Given the description of an element on the screen output the (x, y) to click on. 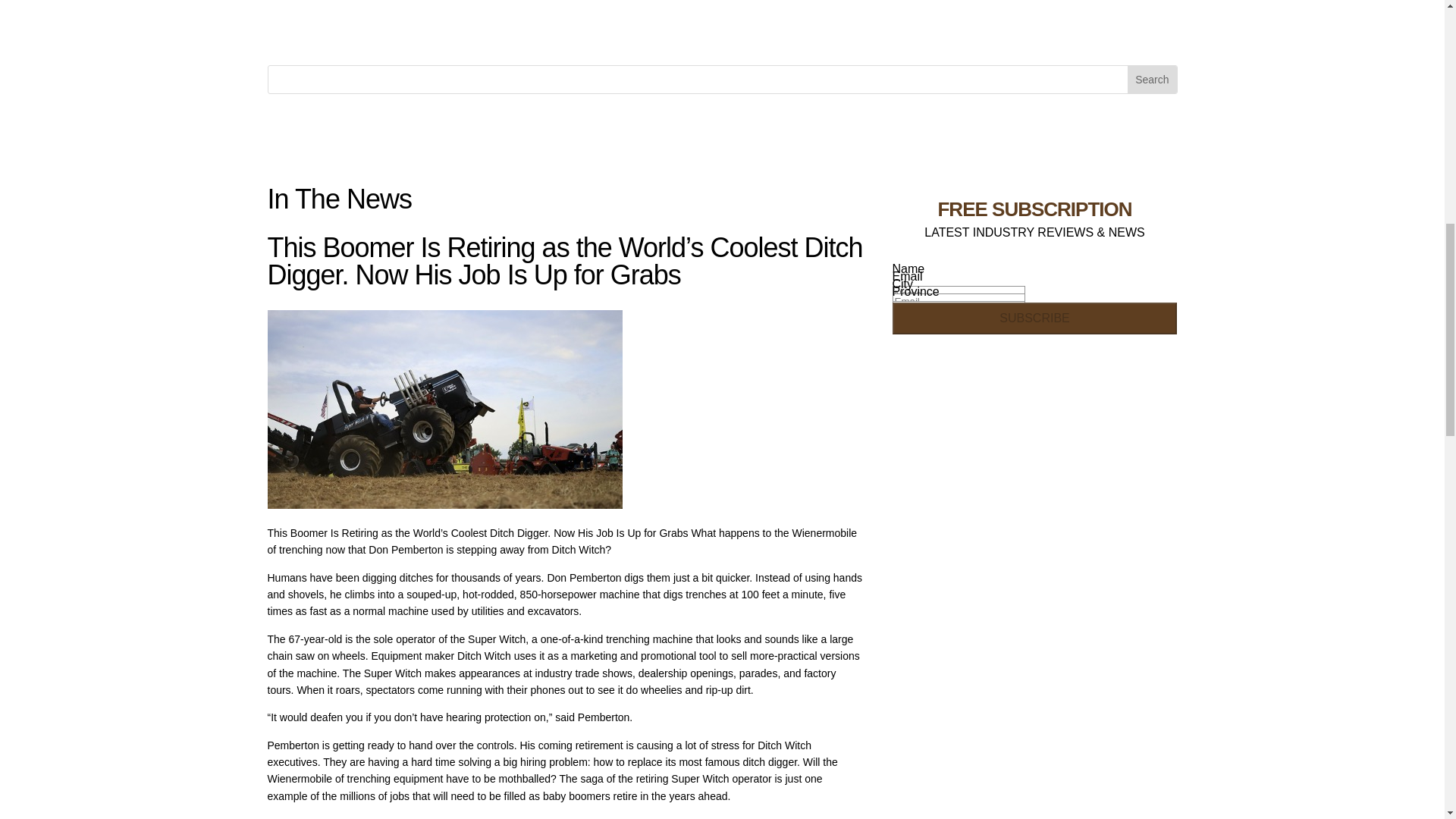
Associations (431, 31)
Search (1151, 79)
Industry Insider (349, 31)
Search (1151, 79)
Our Publications (631, 31)
Subscribe (1033, 318)
Home (280, 31)
Subscribe (1033, 318)
Product Categories (523, 31)
Search (1151, 79)
